Given the description of an element on the screen output the (x, y) to click on. 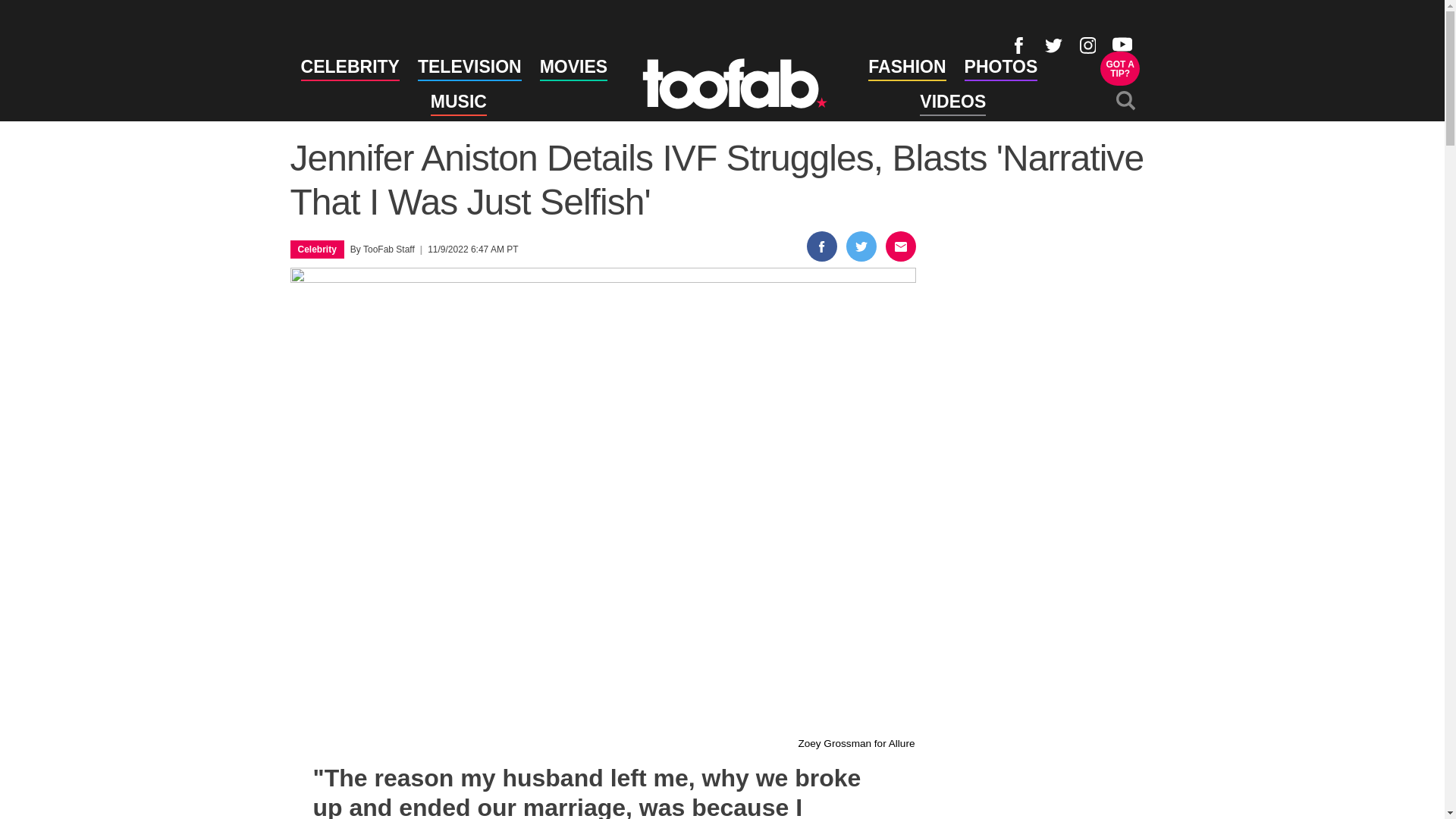
MUSIC (458, 104)
VIDEOS (952, 104)
CELEBRITY (349, 69)
toofab (734, 82)
PHOTOS (1000, 69)
MOVIES (573, 69)
Celebrity (1120, 68)
FASHION (316, 249)
TELEVISION (905, 69)
